Given the description of an element on the screen output the (x, y) to click on. 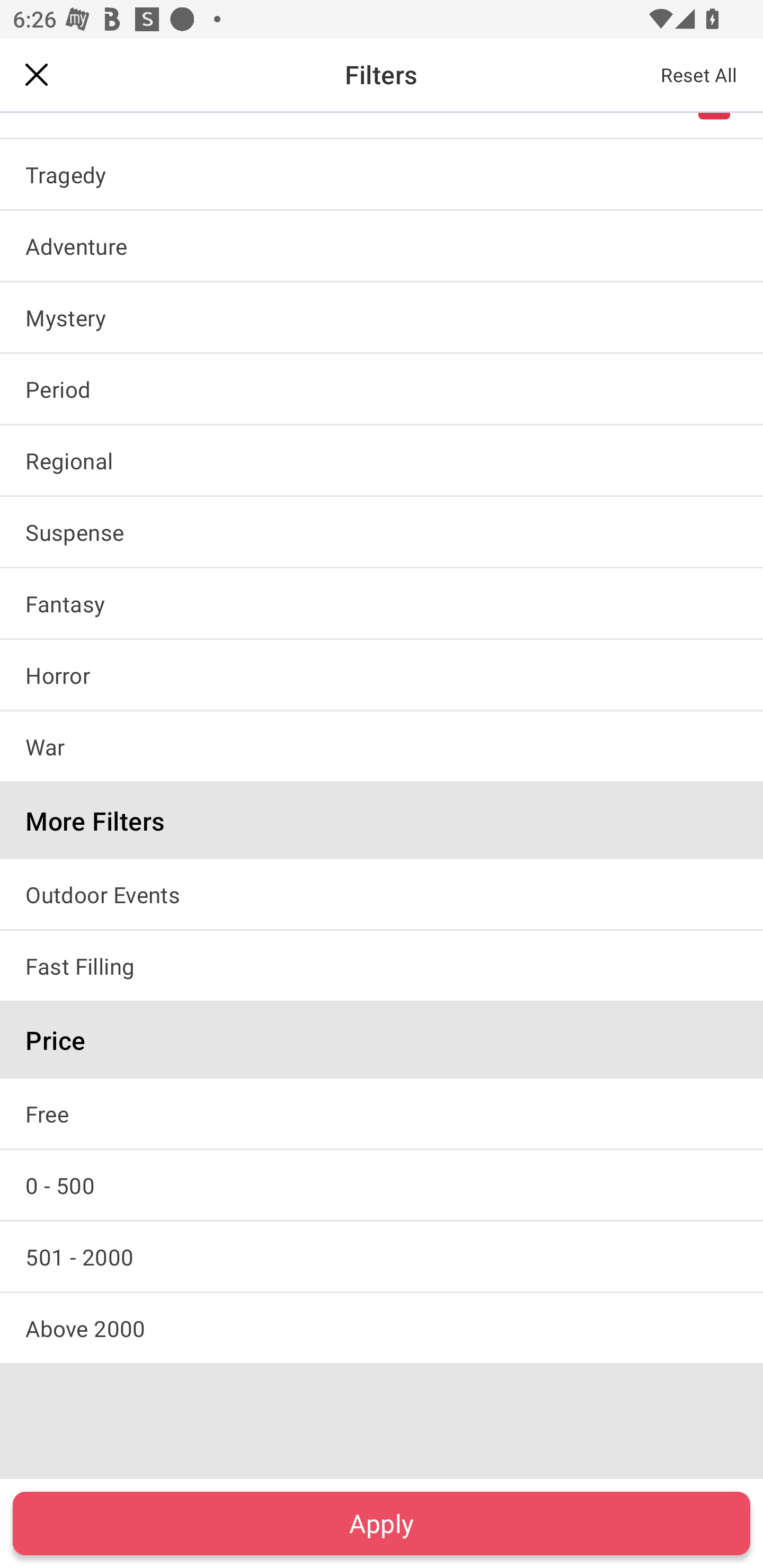
Close (36, 74)
Reset All (699, 74)
Tragedy (381, 173)
Adventure (381, 245)
Mystery (381, 317)
Period (381, 388)
Regional (381, 459)
Suspense (381, 531)
Fantasy (381, 602)
Horror (381, 674)
War (381, 745)
Outdoor Events (381, 894)
Fast Filling (381, 965)
Free (381, 1112)
0 - 500 (381, 1184)
501 - 2000 (381, 1256)
Above 2000 (381, 1327)
Apply (381, 1523)
